Given the description of an element on the screen output the (x, y) to click on. 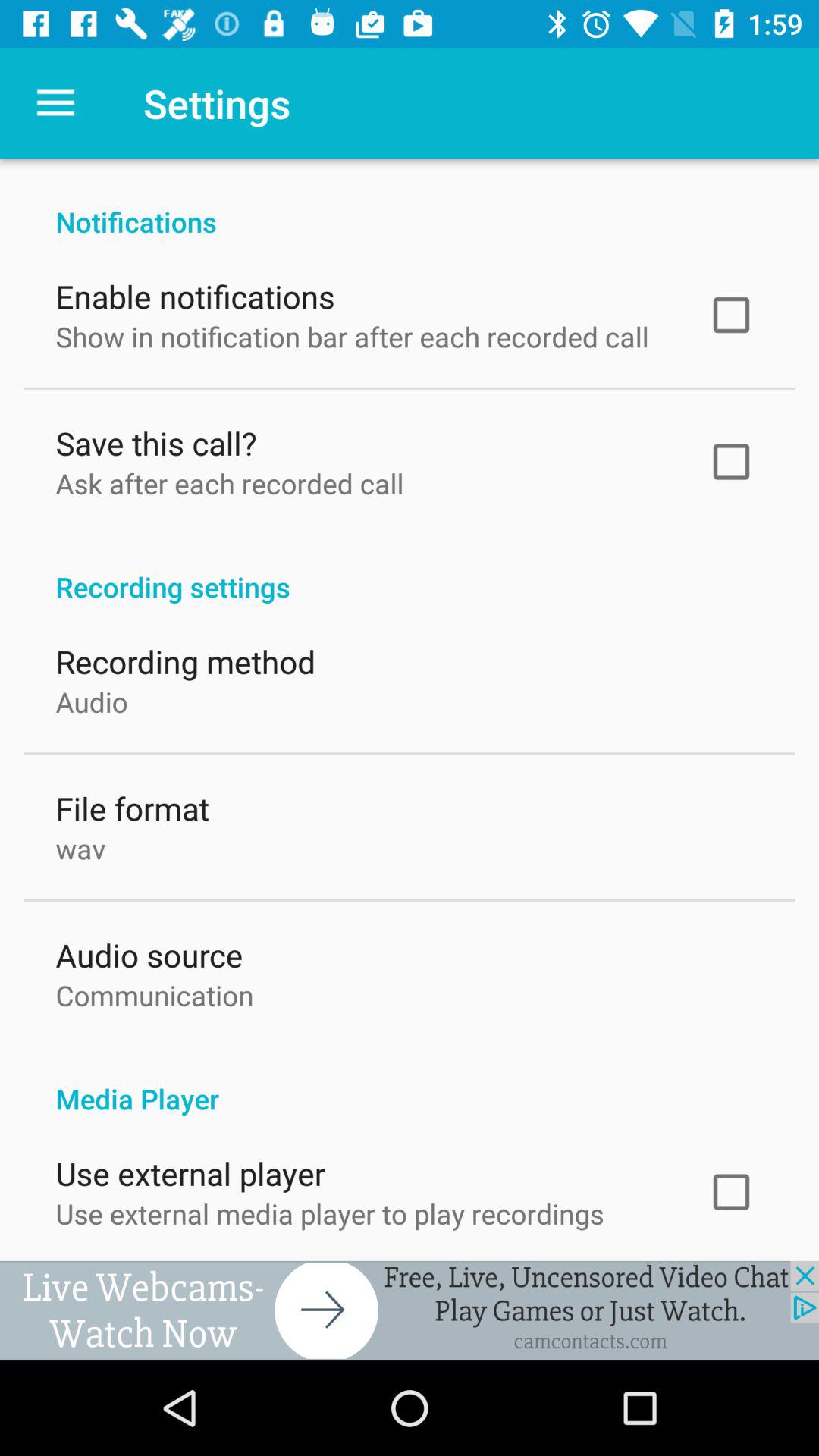
tap the item below show in notification item (155, 439)
